Given the description of an element on the screen output the (x, y) to click on. 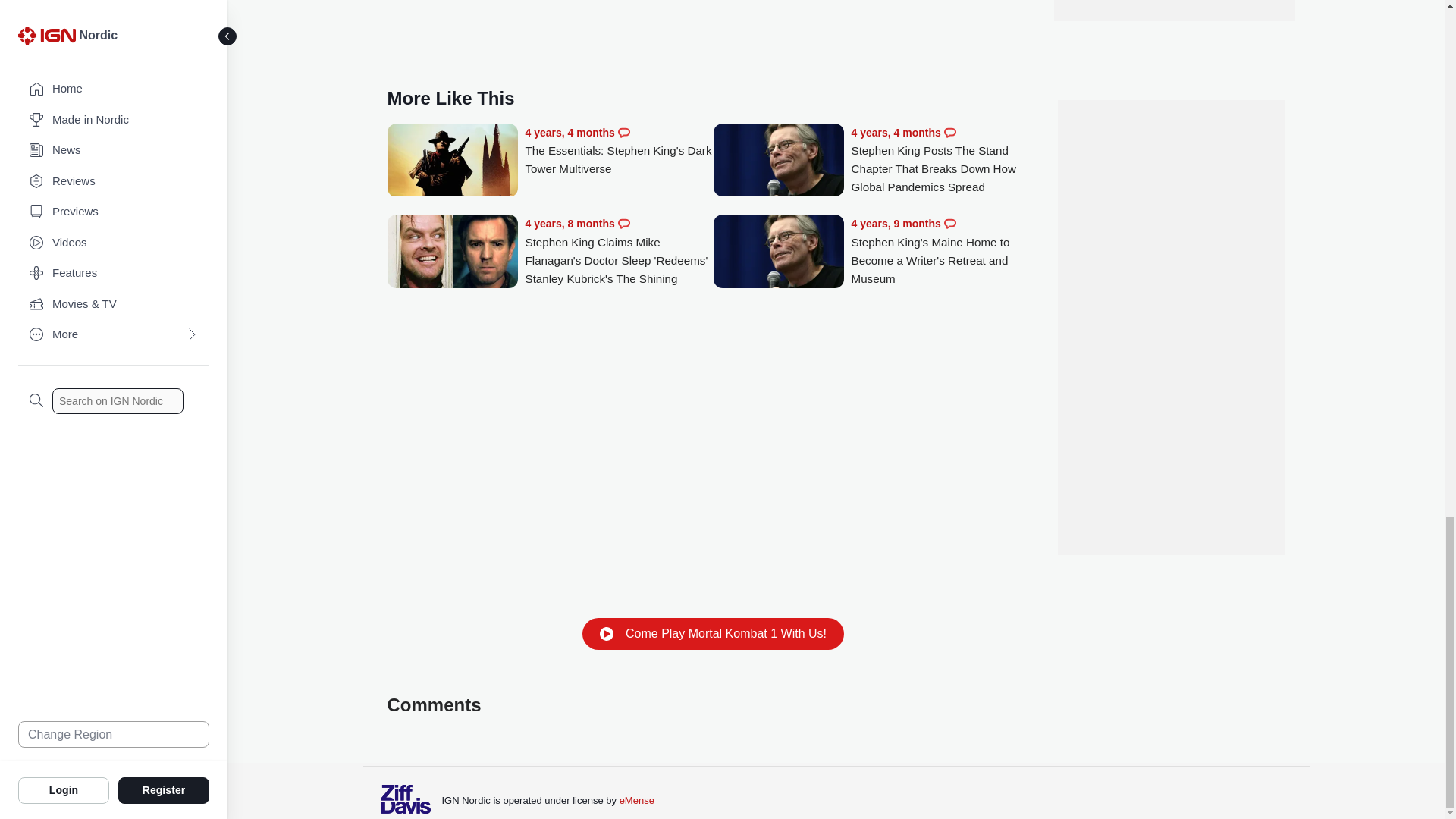
Comments (623, 132)
The Essentials: Stephen King's Dark Tower Multiverse (618, 151)
The Essentials: Stephen King's Dark Tower Multiverse (451, 161)
Comments (623, 223)
Comments (949, 132)
Comments (949, 223)
